Given the description of an element on the screen output the (x, y) to click on. 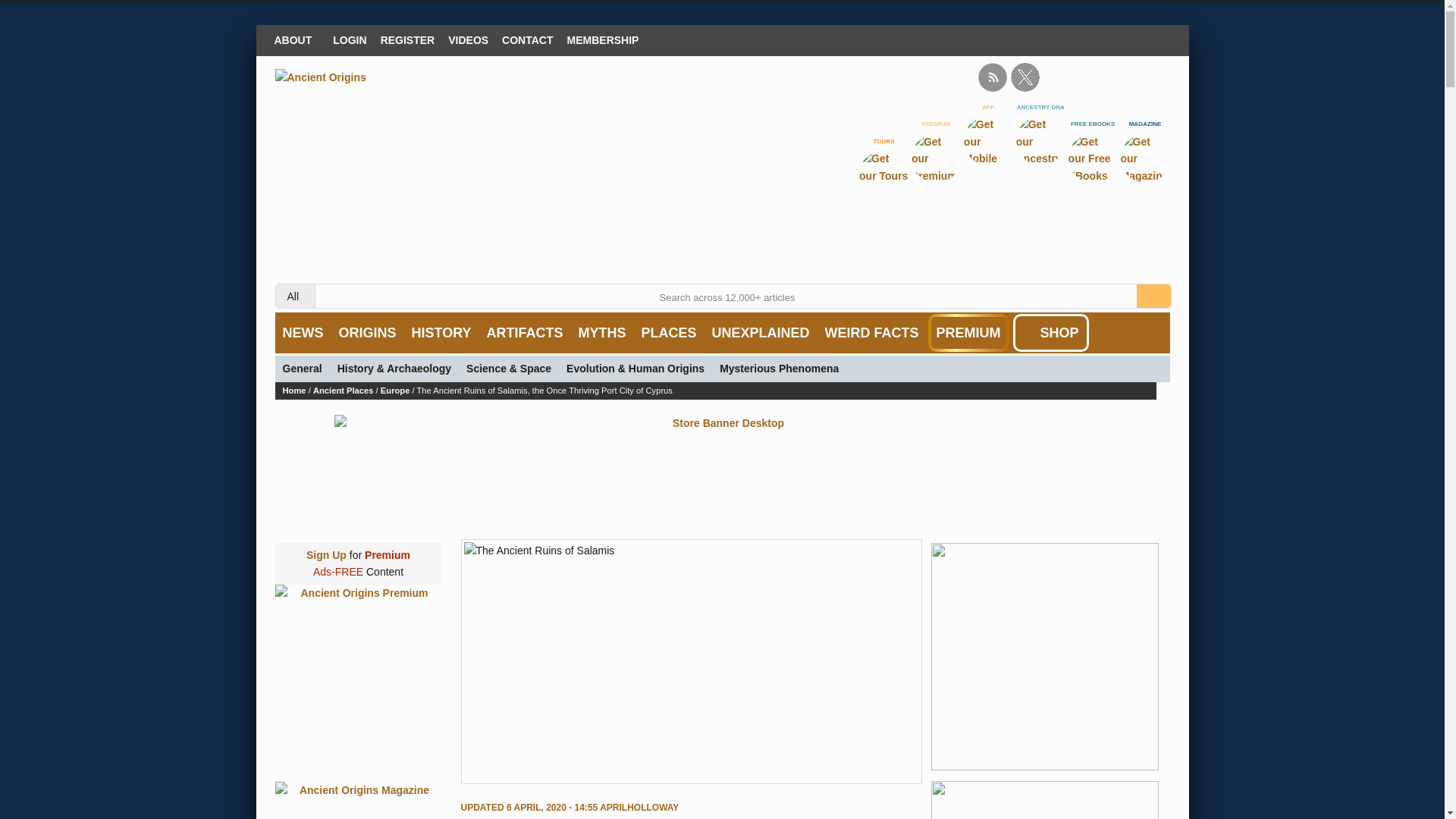
Become a registered user (408, 40)
Find (1152, 295)
VIDEOS (468, 40)
MEMBERSHIP (603, 40)
Login (349, 40)
Contact us (526, 40)
Video Gallery (468, 40)
ABOUT (296, 40)
REGISTER (408, 40)
Our Mission (296, 40)
LOGIN (349, 40)
CONTACT (526, 40)
